Given the description of an element on the screen output the (x, y) to click on. 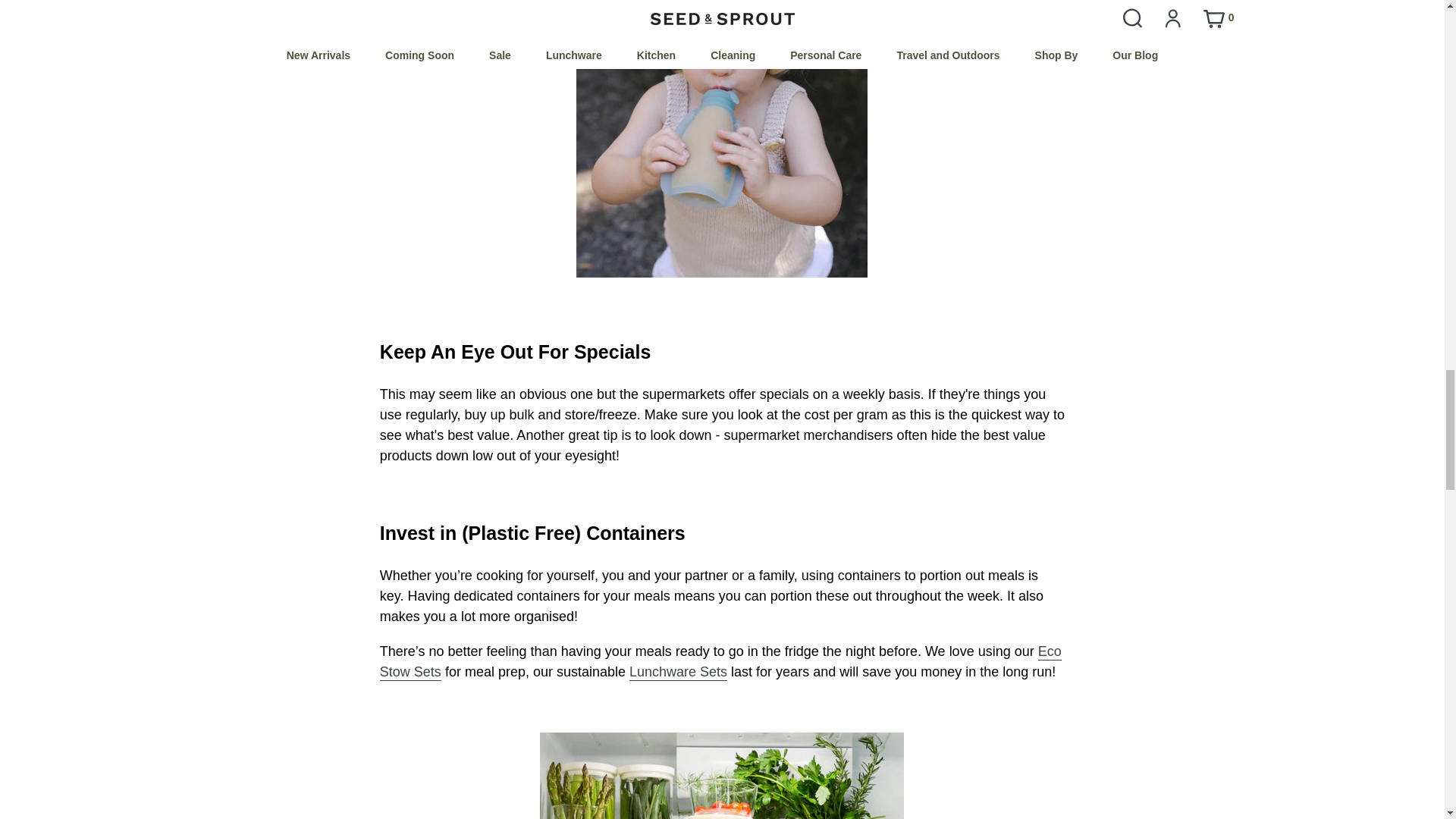
Lunchware Sets (677, 672)
